Given the description of an element on the screen output the (x, y) to click on. 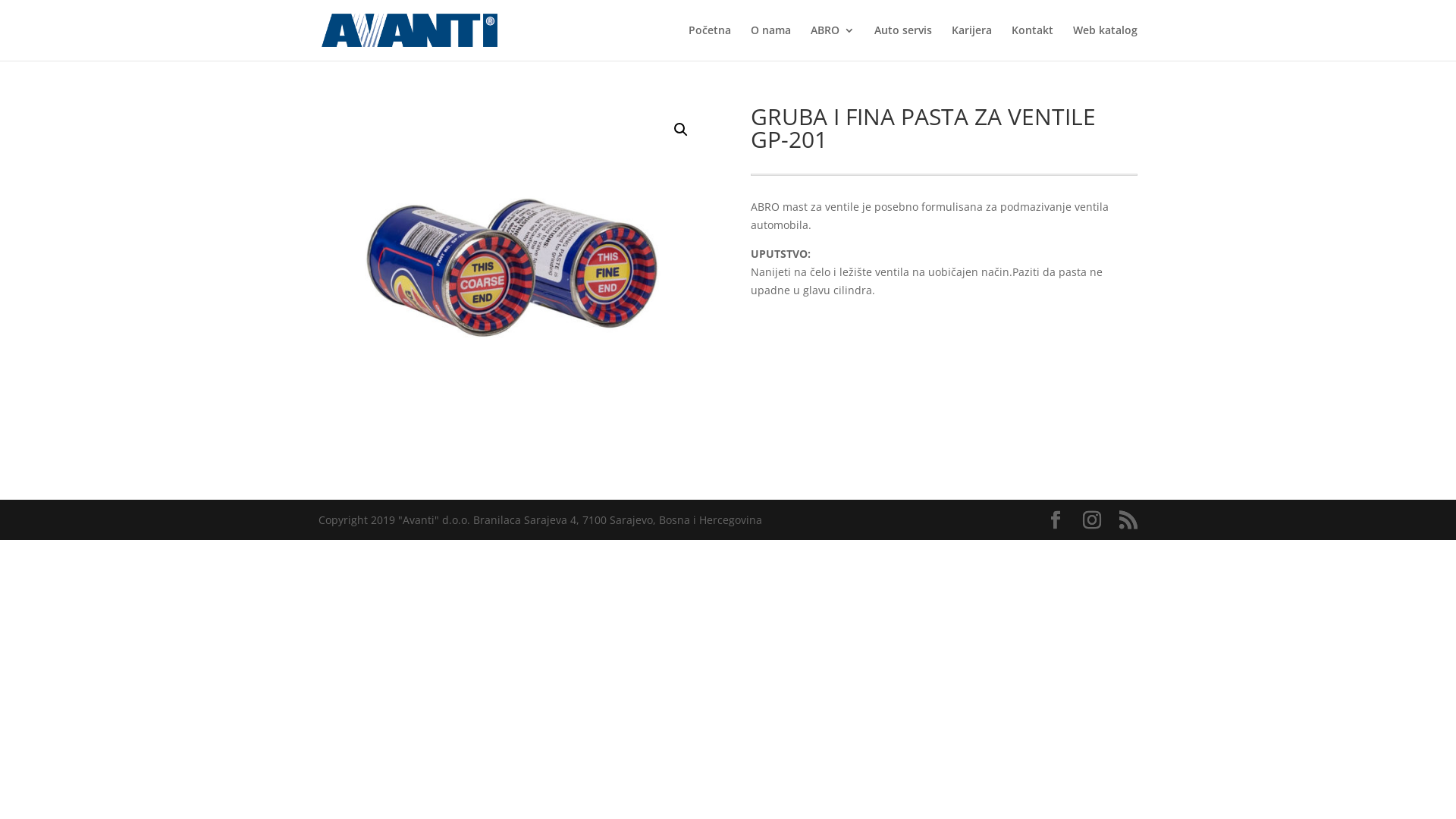
Web katalog Element type: text (1105, 42)
Auto servis Element type: text (902, 42)
Karijera Element type: text (971, 42)
ABRO Element type: text (832, 42)
ABRO-GP-201 Element type: hover (511, 242)
Kontakt Element type: text (1032, 42)
O nama Element type: text (770, 42)
